Given the description of an element on the screen output the (x, y) to click on. 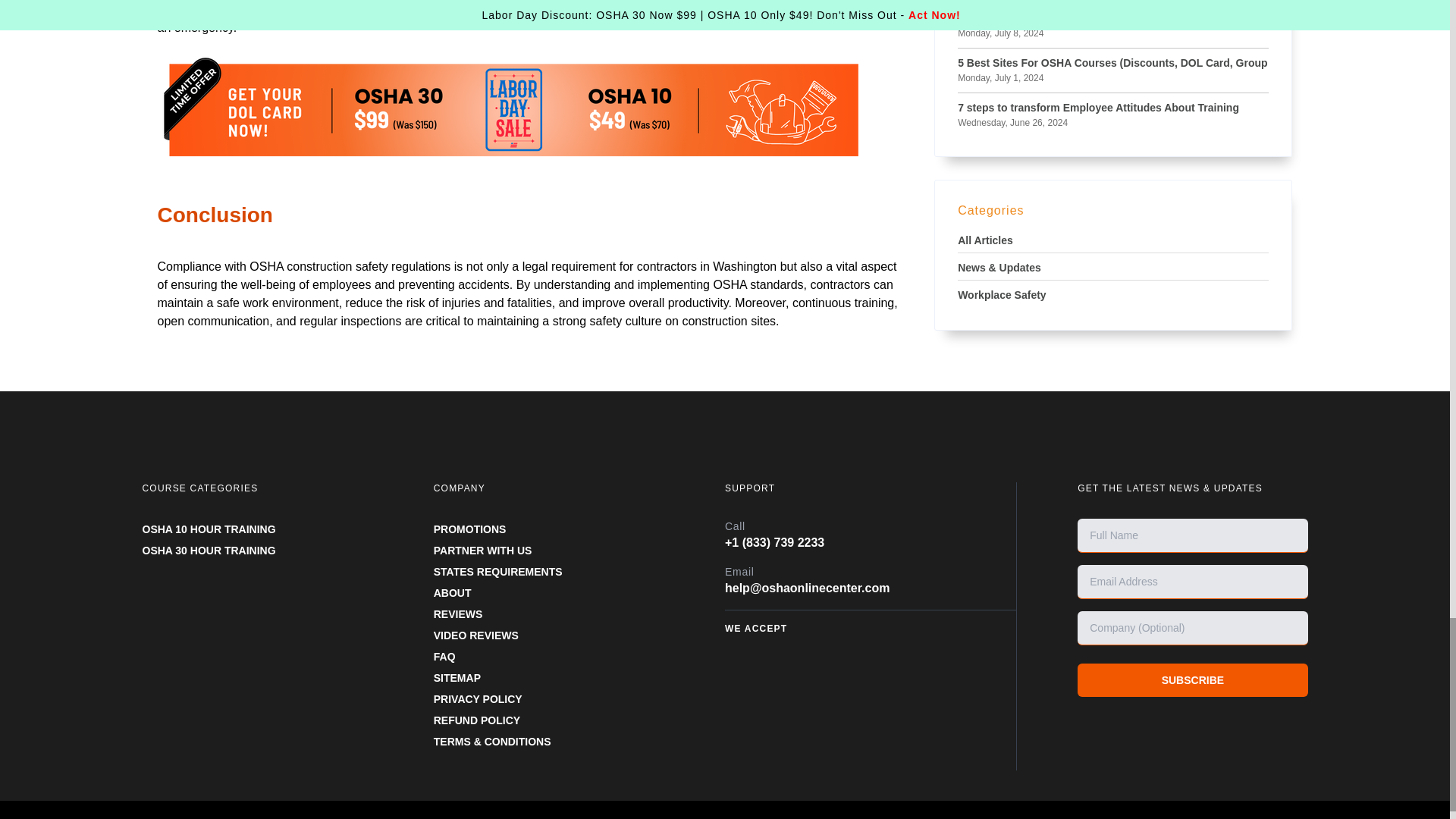
SITEMAP (456, 677)
PROMOTIONS (469, 529)
PRIVACY POLICY (477, 698)
PARTNER WITH US (482, 550)
OSHA 10 HOUR TRAINING (209, 529)
REFUND POLICY (476, 720)
VIDEO REVIEWS (475, 635)
STATES REQUIREMENTS (497, 571)
OSHA 30 HOUR TRAINING (209, 550)
ABOUT (452, 592)
